Given the description of an element on the screen output the (x, y) to click on. 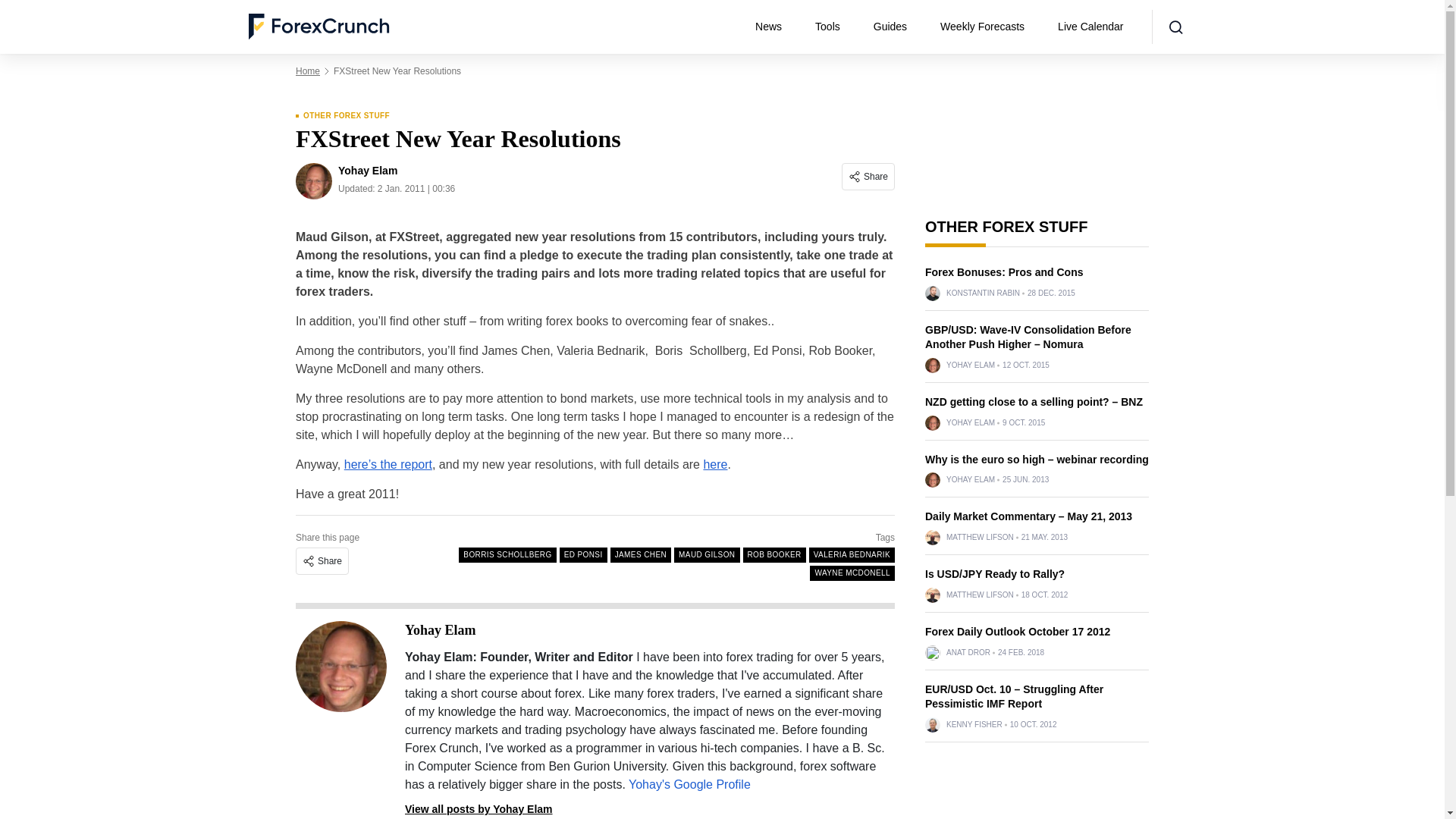
News (774, 27)
Guides (896, 27)
Tools (834, 27)
Forex News (774, 27)
